Given the description of an element on the screen output the (x, y) to click on. 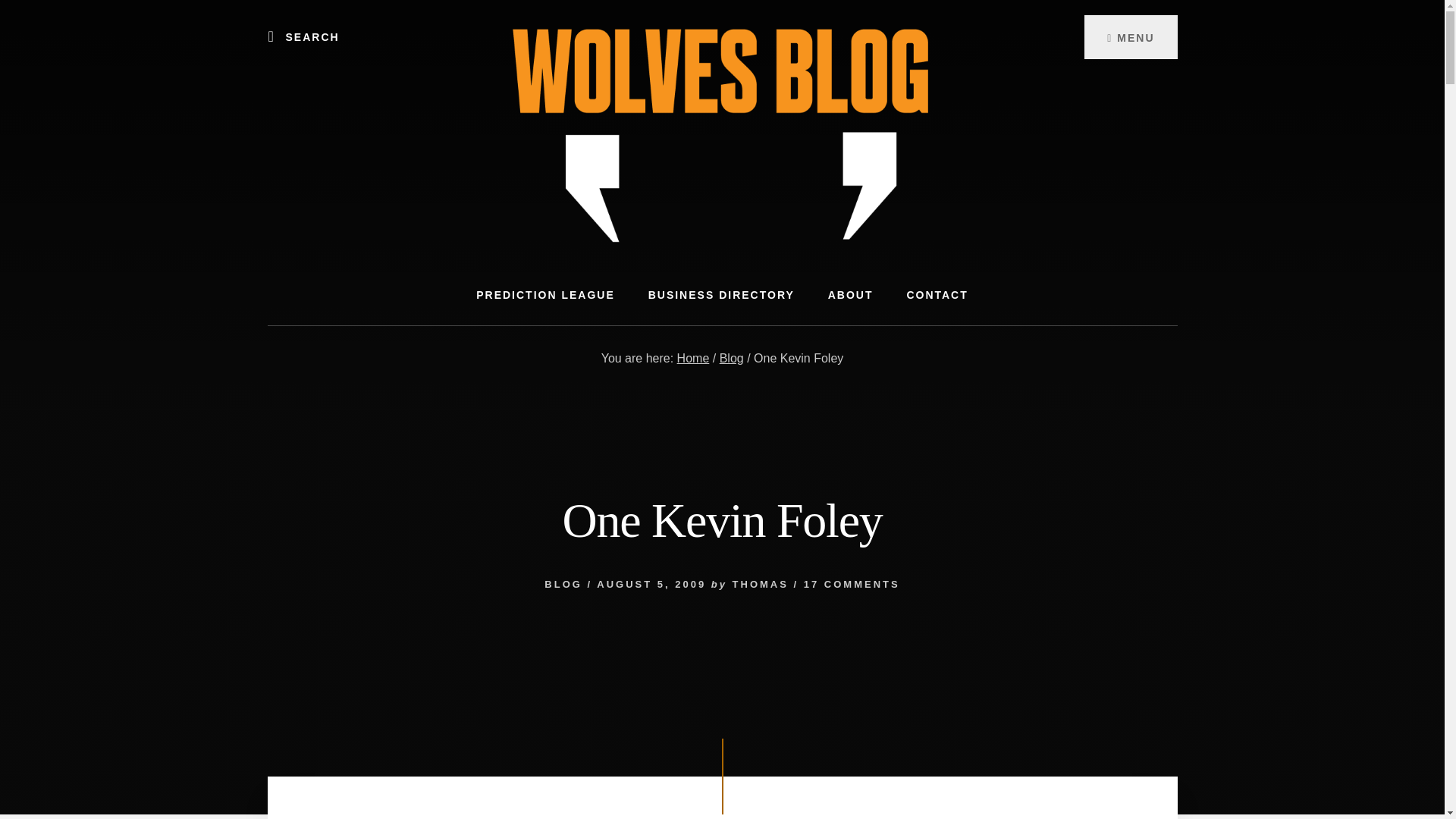
17 COMMENTS (851, 583)
PREDICTION LEAGUE (545, 295)
Home (693, 358)
THOMAS (760, 583)
Blog (731, 358)
MENU (1130, 36)
BLOG (563, 583)
BUSINESS DIRECTORY (721, 295)
